Given the description of an element on the screen output the (x, y) to click on. 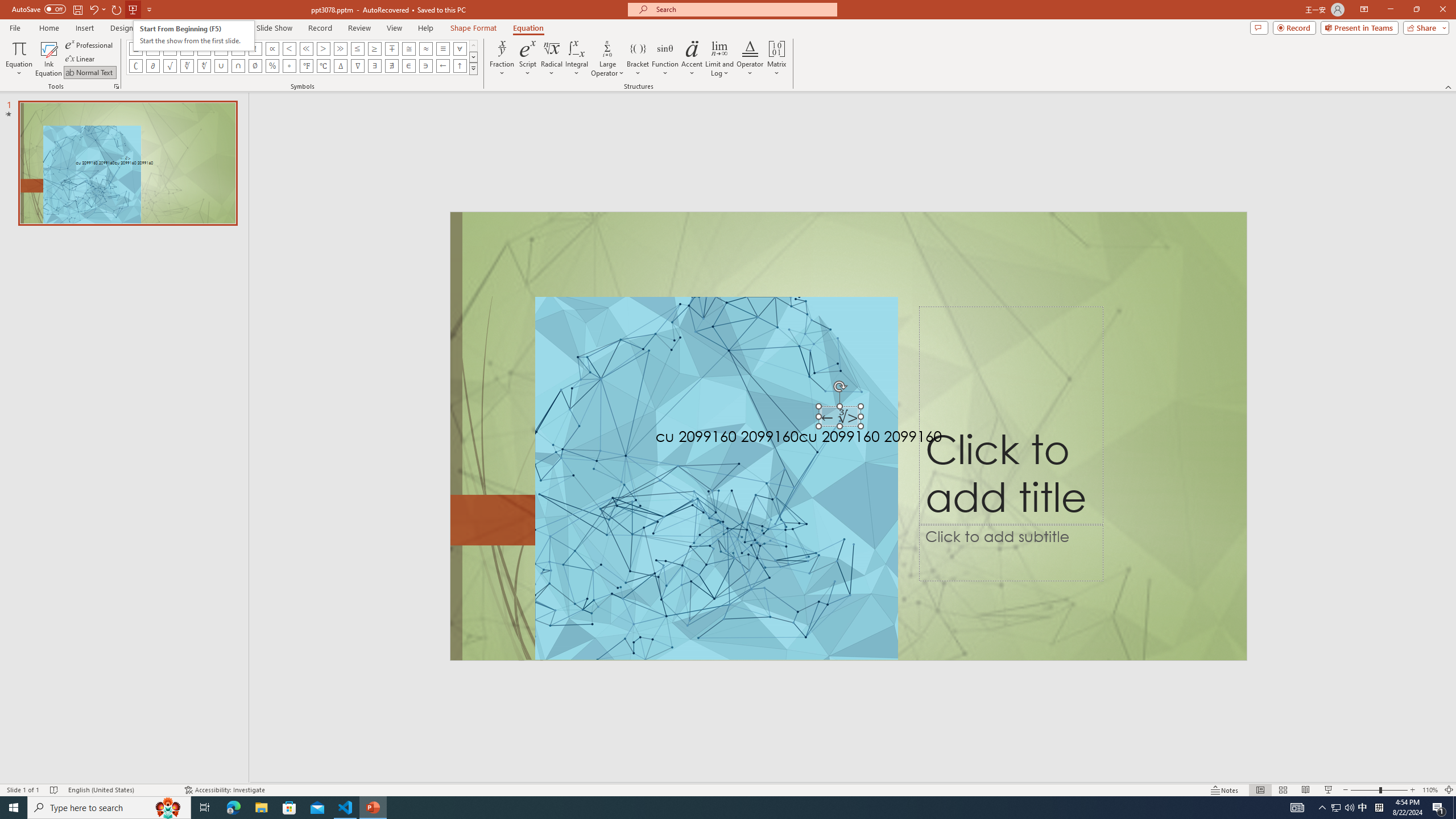
Equation Symbol Almost Equal To (Asymptotic To) (425, 48)
Equation Symbol Much Greater Than (340, 48)
Bracket (638, 58)
Equation Symbol Percentage (272, 65)
Equation Symbol Greater Than or Equal To (374, 48)
Equation Symbol Element Of (408, 65)
